Given the description of an element on the screen output the (x, y) to click on. 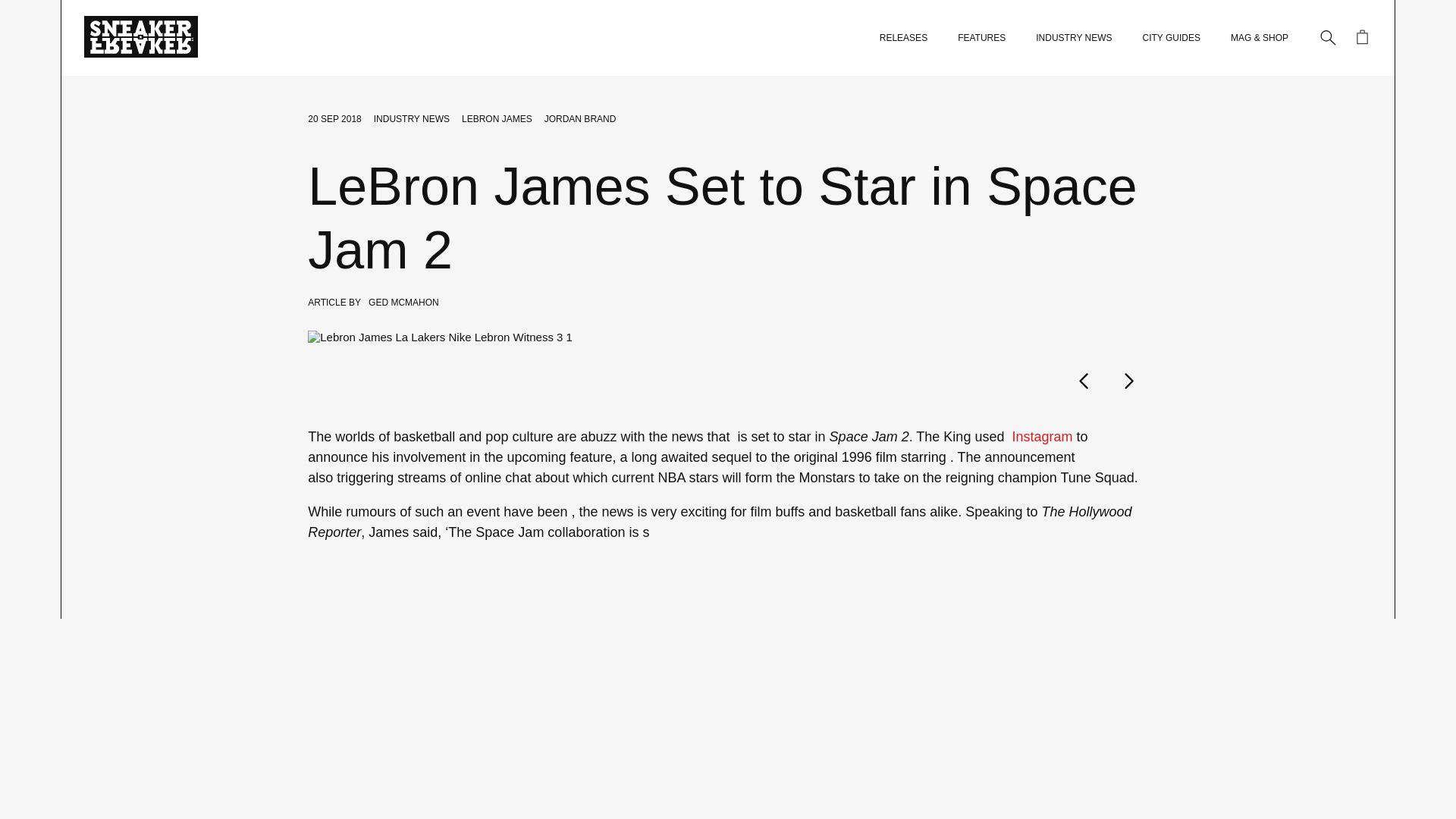
INDUSTRY NEWS (411, 118)
INDUSTRY NEWS (1073, 37)
RELEASES (903, 37)
Instagram (1039, 436)
JORDAN BRAND (579, 118)
CITY GUIDES (1170, 37)
LEBRON JAMES (496, 118)
FEATURES (982, 37)
